Given the description of an element on the screen output the (x, y) to click on. 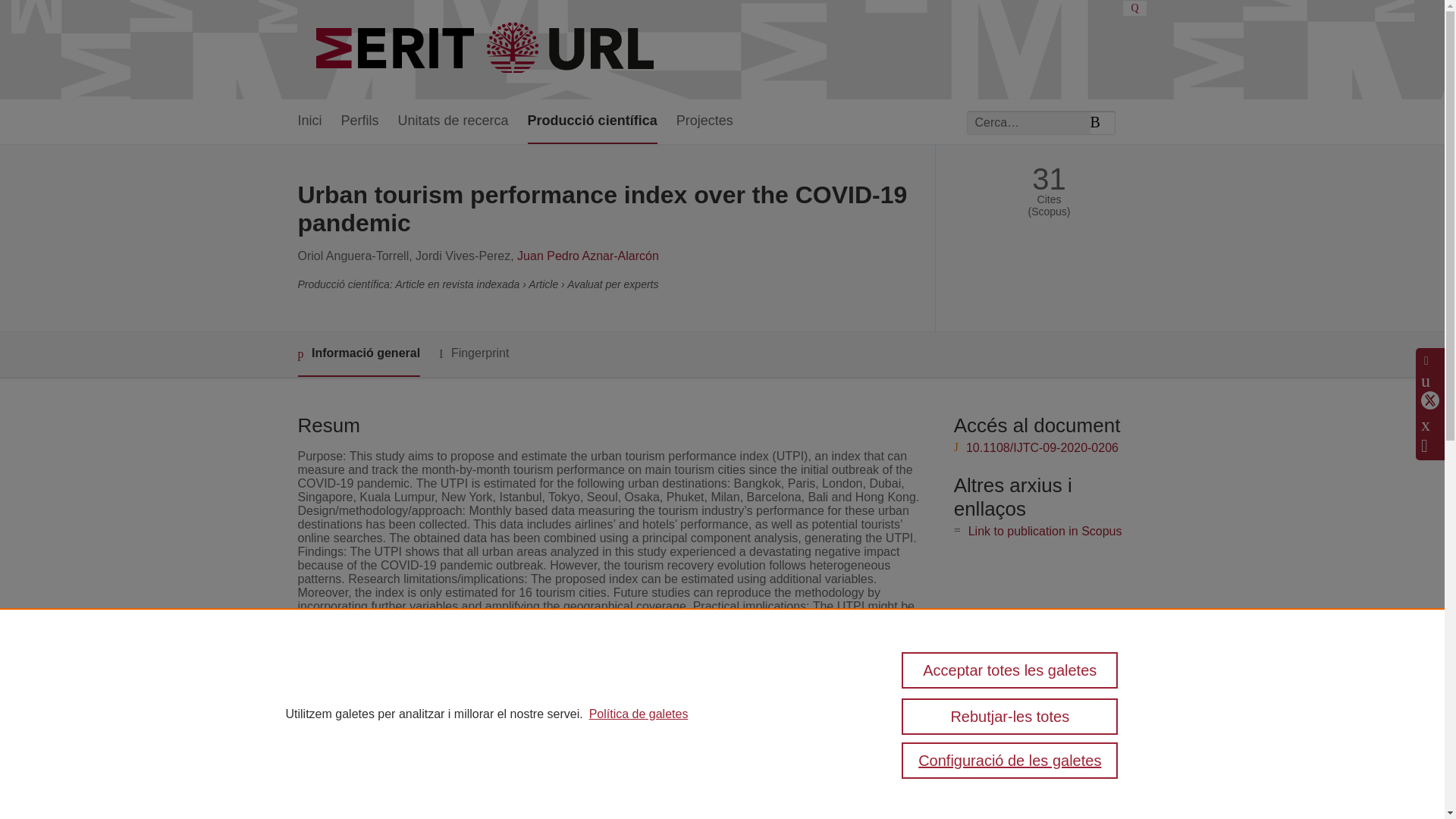
Link to publication in Scopus (1045, 530)
Unitats de recerca (452, 121)
Projectes (705, 121)
International Journal of Tourism Cities (608, 765)
Universitat Ramon Llull Inici (487, 49)
Fingerprint (473, 353)
